Given the description of an element on the screen output the (x, y) to click on. 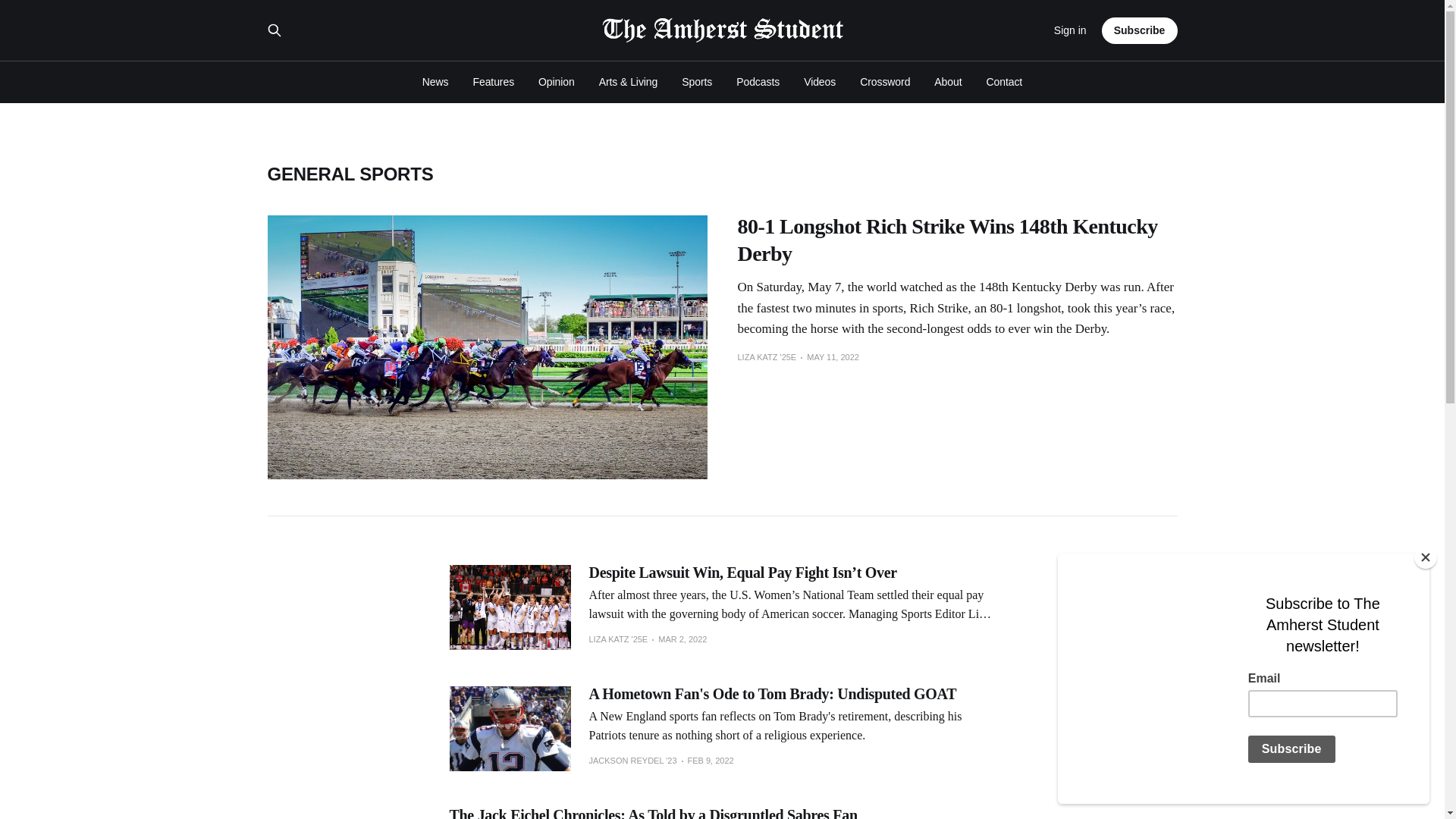
Features (492, 81)
Subscribe (1139, 29)
Sign in (1070, 30)
About (947, 81)
Videos (819, 81)
News (435, 81)
Podcasts (757, 81)
Sports (696, 81)
Crossword (885, 81)
Opinion (556, 81)
Contact (1005, 81)
